Given the description of an element on the screen output the (x, y) to click on. 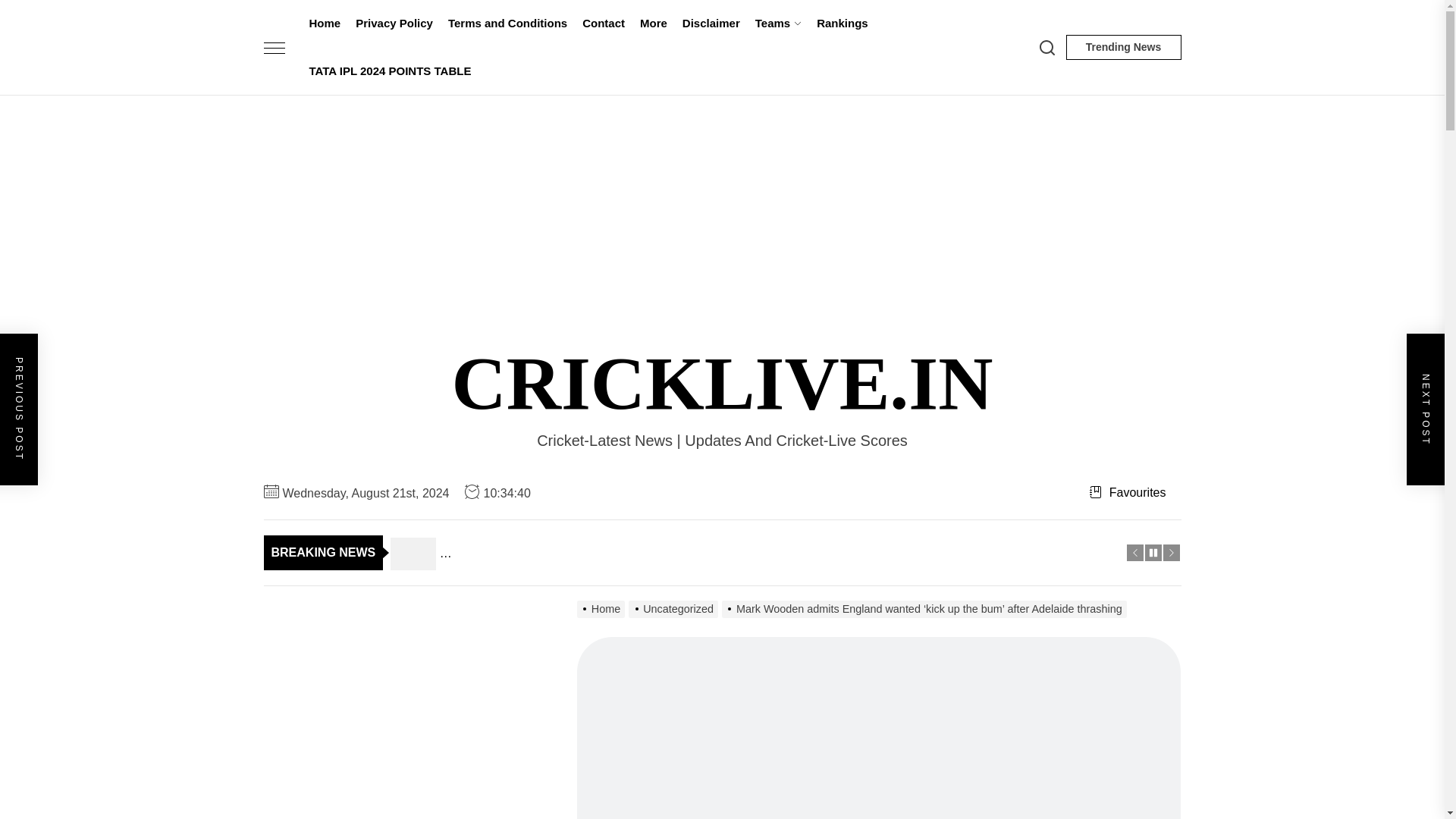
Teams (778, 23)
Privacy Policy (394, 23)
Rankings (842, 23)
Home (325, 23)
Disclaimer (711, 23)
TATA IPL 2024 POINTS TABLE (390, 70)
Contact (603, 23)
Terms and Conditions (508, 23)
